Given the description of an element on the screen output the (x, y) to click on. 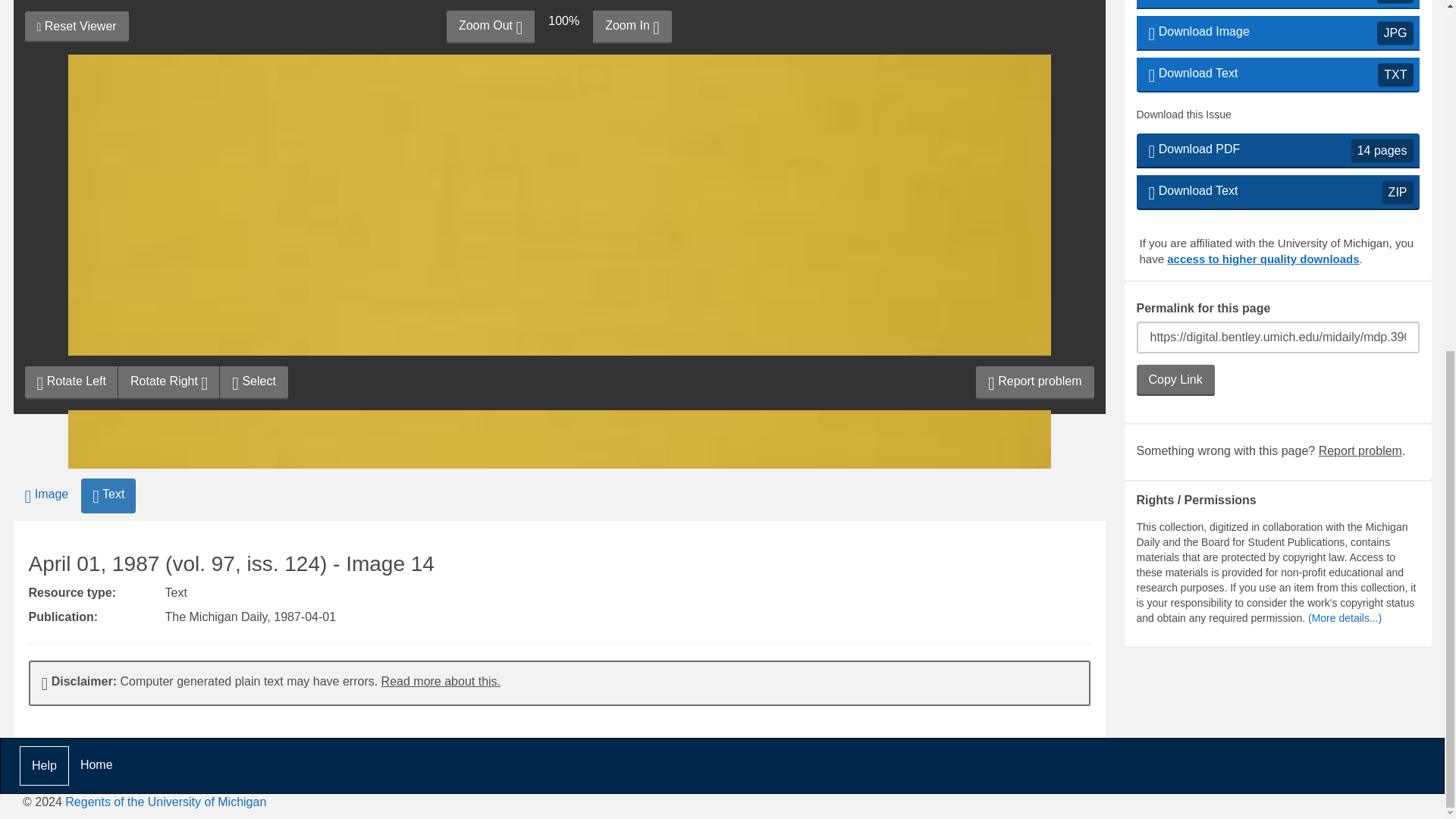
Report problem (1034, 181)
Rotate Left (70, 181)
Report problem (1360, 95)
Rotate Right (168, 181)
Copy Link (253, 181)
